Given the description of an element on the screen output the (x, y) to click on. 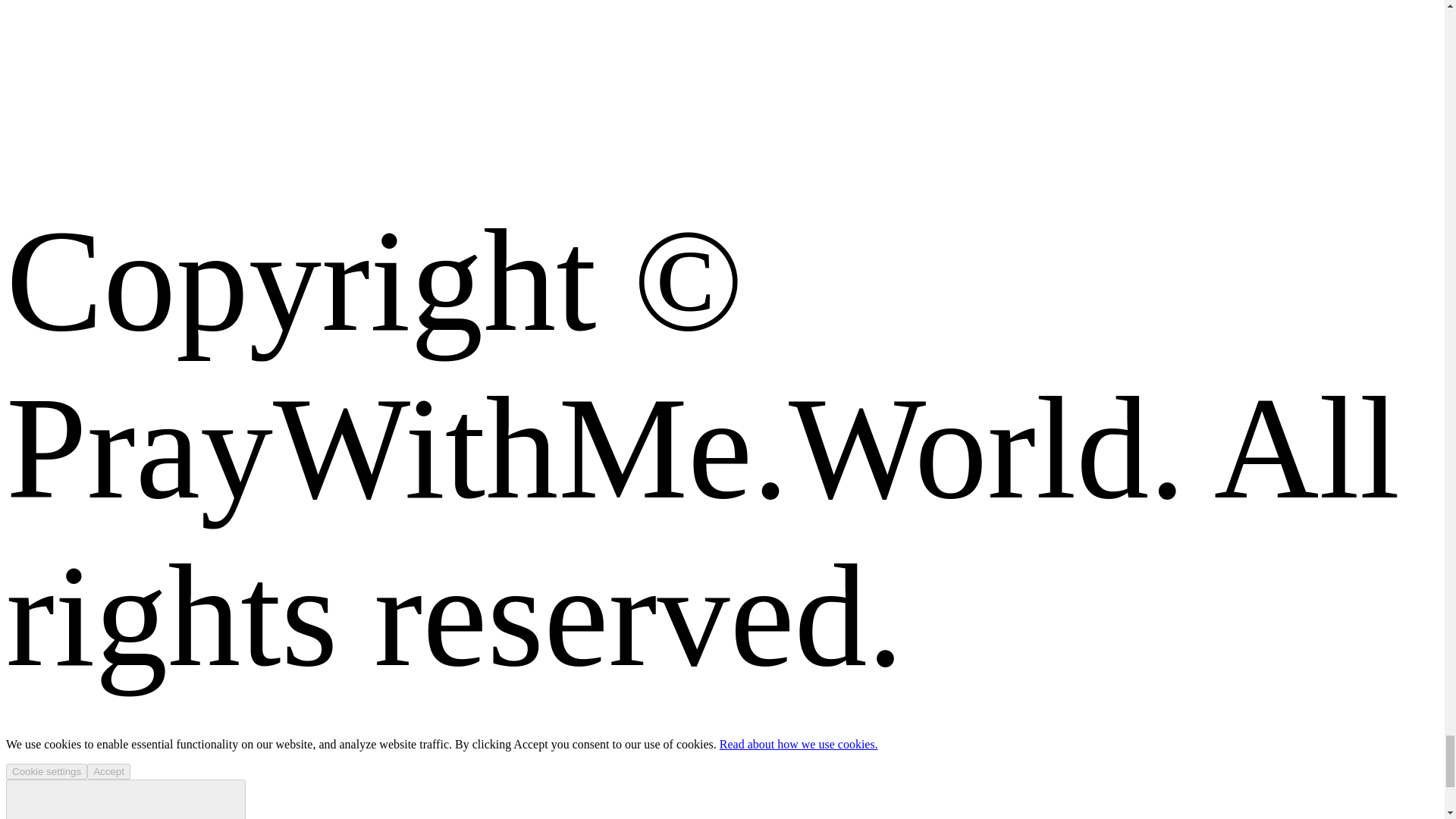
Cookie settings (46, 771)
Accept (109, 771)
Read about how we use cookies. (798, 744)
